Given the description of an element on the screen output the (x, y) to click on. 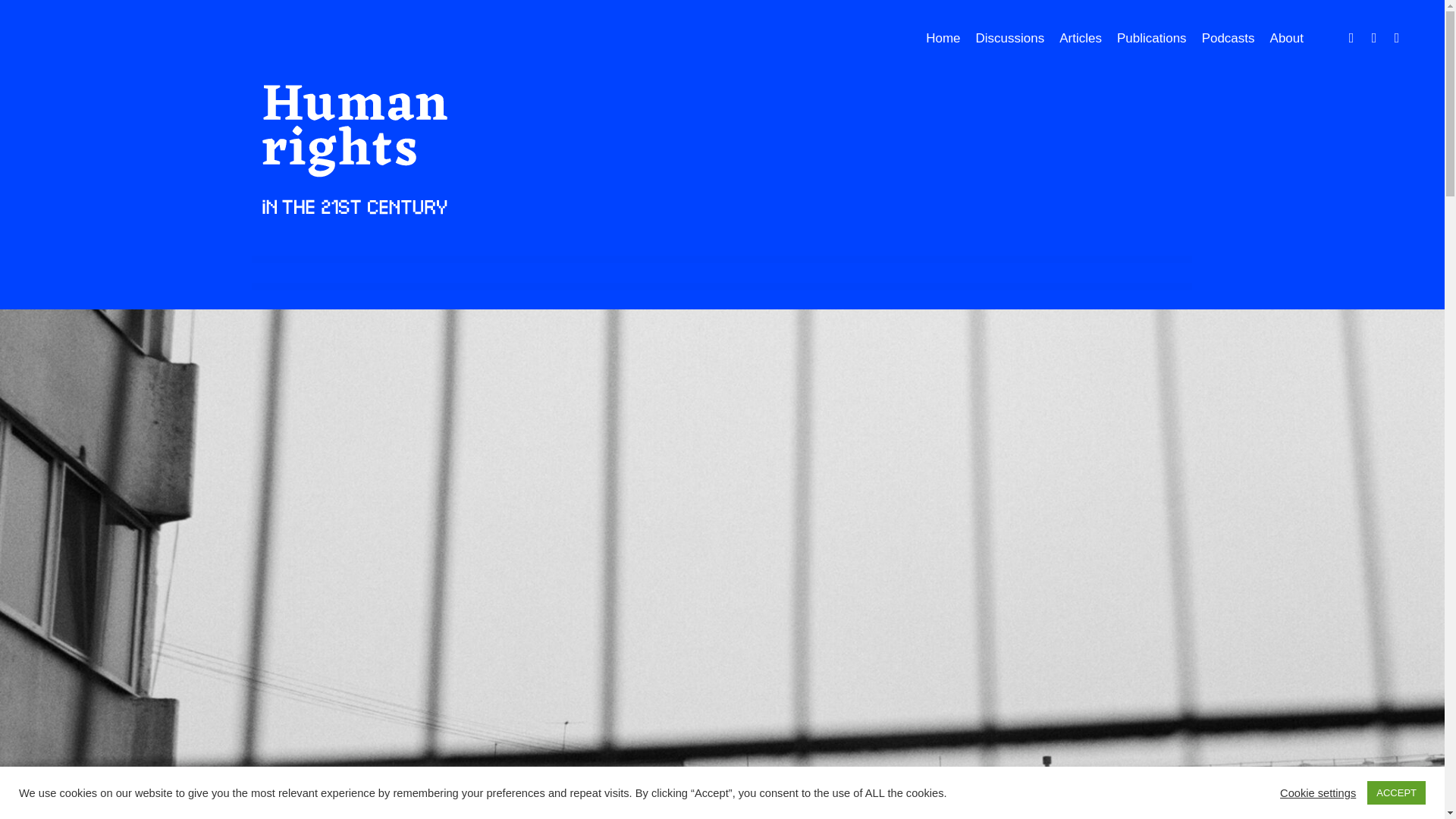
Instagram page opens in new window (1396, 36)
Facebook page opens in new window (1350, 36)
Cookie settings (1317, 792)
Publications (1159, 38)
Facebook page opens in new window (1350, 36)
Podcasts (1235, 38)
Twitter page opens in new window (1374, 36)
ACCEPT (1396, 792)
Instagram page opens in new window (1396, 36)
Twitter page opens in new window (1374, 36)
Discussions (1017, 38)
